Given the description of an element on the screen output the (x, y) to click on. 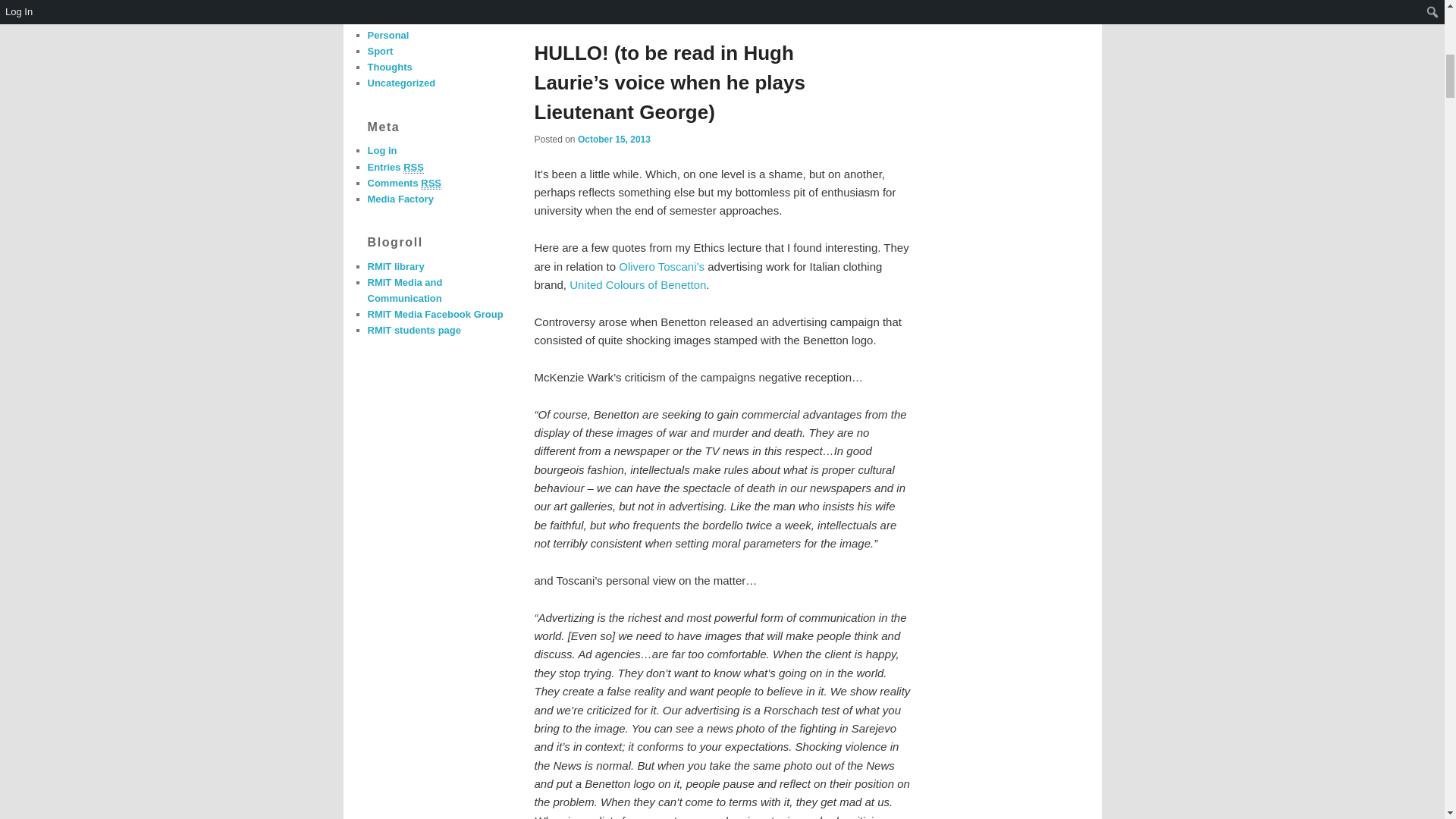
United Colours of Benetton (637, 284)
2:07 pm (614, 139)
October 15, 2013 (614, 139)
